Given the description of an element on the screen output the (x, y) to click on. 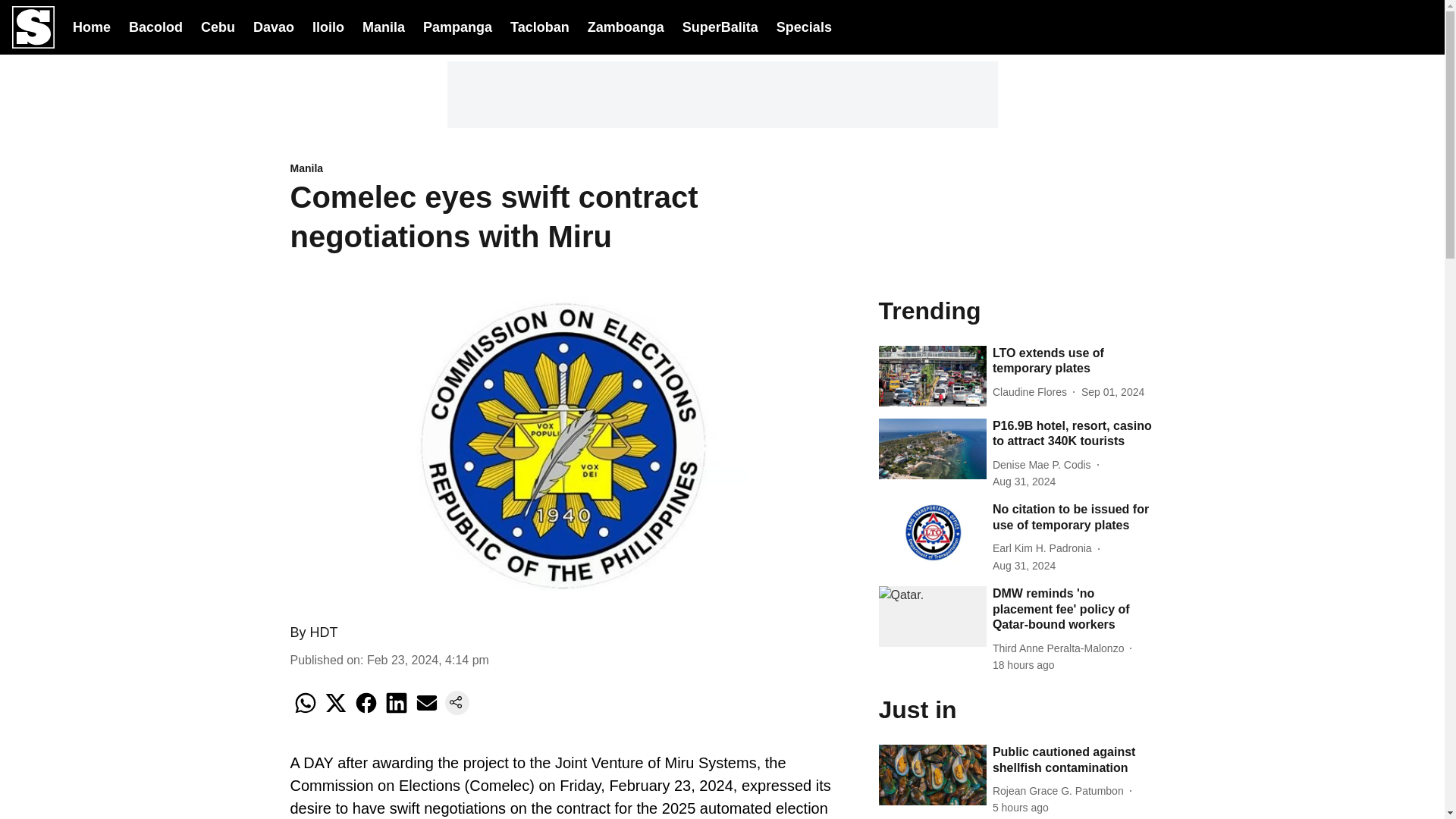
Trending (1015, 309)
Dark Mode (1382, 27)
Bacolod (156, 26)
2024-08-31 12:43 (1023, 481)
Earl Kim H. Padronia (1044, 548)
Pampanga (457, 26)
By HDT (313, 631)
No citation to be issued for use of temporary plates (1073, 517)
Davao (273, 26)
2024-09-02 03:48 (1023, 665)
